Given the description of an element on the screen output the (x, y) to click on. 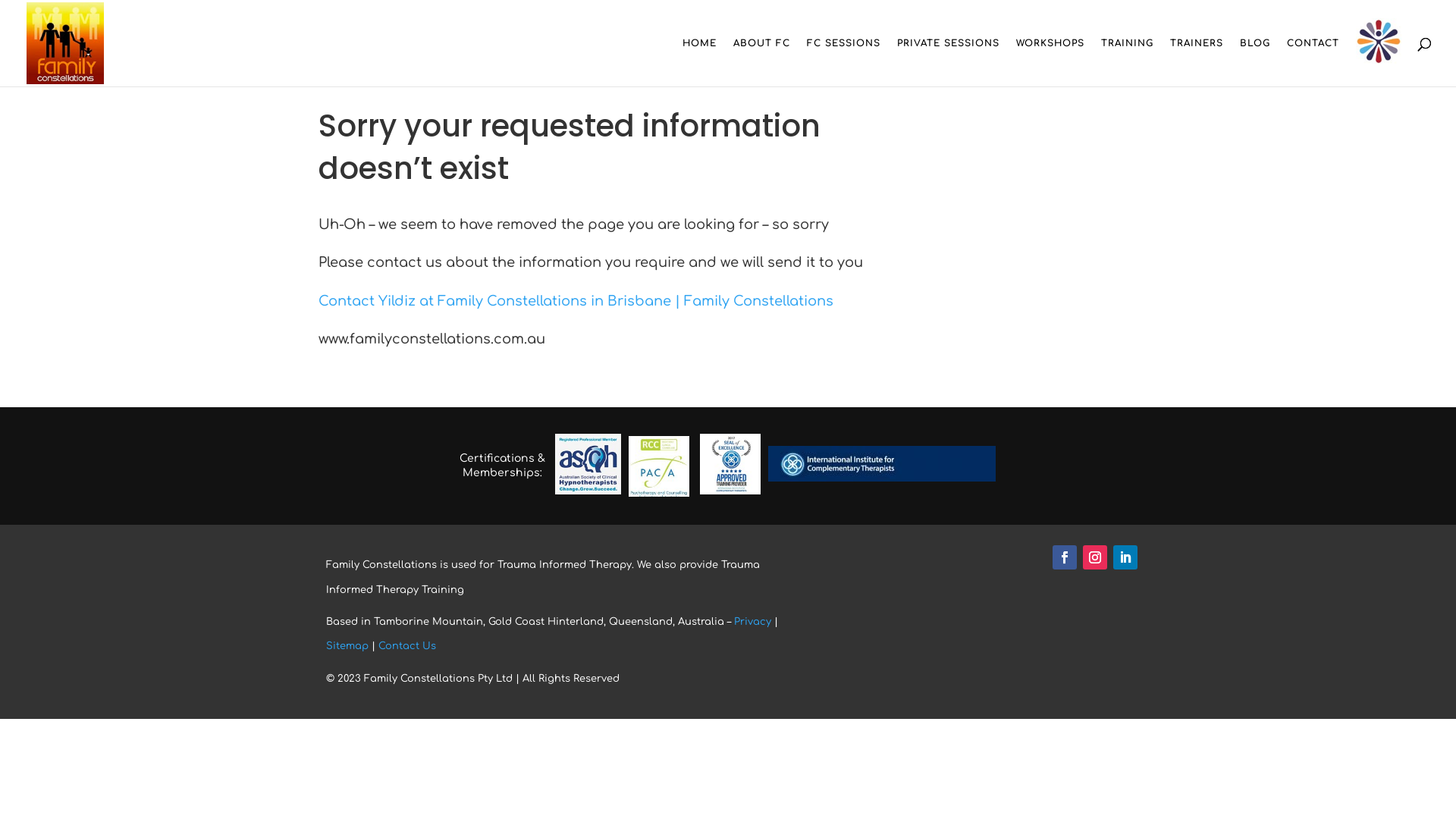
WORKSHOPS Element type: text (1050, 61)
CONTACT Element type: text (1312, 61)
BLOG Element type: text (1254, 61)
PRIVATE SESSIONS Element type: text (948, 61)
FC SESSIONS Element type: text (843, 61)
RCH Element type: text (1378, 42)
TRAINERS Element type: text (1196, 61)
Sitemap Element type: text (347, 645)
Follow on Facebook Element type: hover (1064, 557)
TRAINING Element type: text (1127, 61)
Follow on LinkedIn Element type: hover (1125, 557)
Contact Us Element type: text (407, 645)
HOME Element type: text (699, 61)
ABOUT FC Element type: text (761, 61)
Privacy Element type: text (752, 621)
Follow on Instagram Element type: hover (1094, 557)
